Given the description of an element on the screen output the (x, y) to click on. 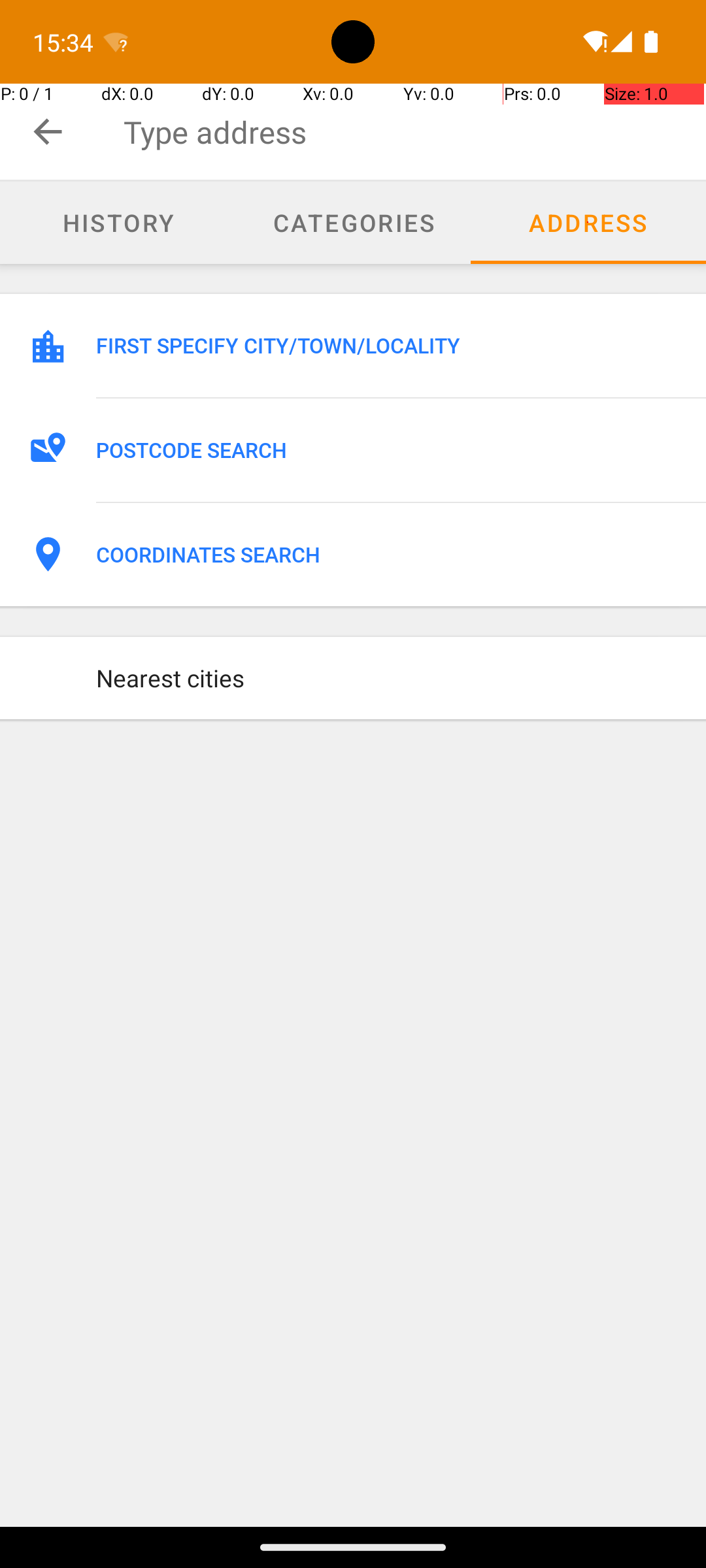
Type address Element type: android.widget.EditText (414, 131)
FIRST SPECIFY CITY/TOWN/LOCALITY Element type: android.widget.TextView (387, 345)
POSTCODE SEARCH Element type: android.widget.TextView (387, 450)
COORDINATES SEARCH Element type: android.widget.TextView (387, 554)
Nearest cities Element type: android.widget.TextView (387, 678)
